Given the description of an element on the screen output the (x, y) to click on. 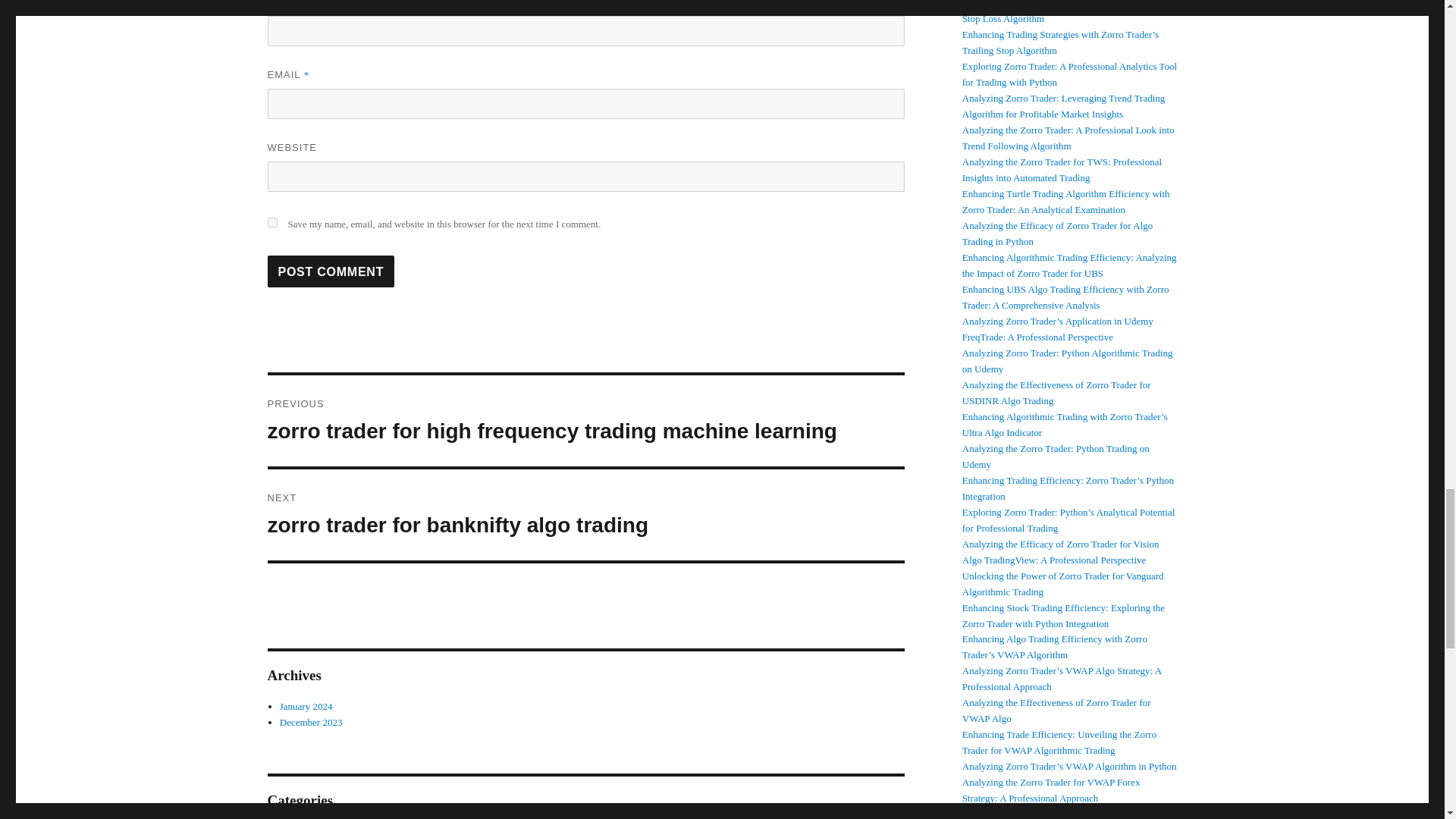
yes (271, 222)
Post Comment (330, 271)
December 2023 (585, 514)
Post Comment (310, 722)
January 2024 (330, 271)
